Given the description of an element on the screen output the (x, y) to click on. 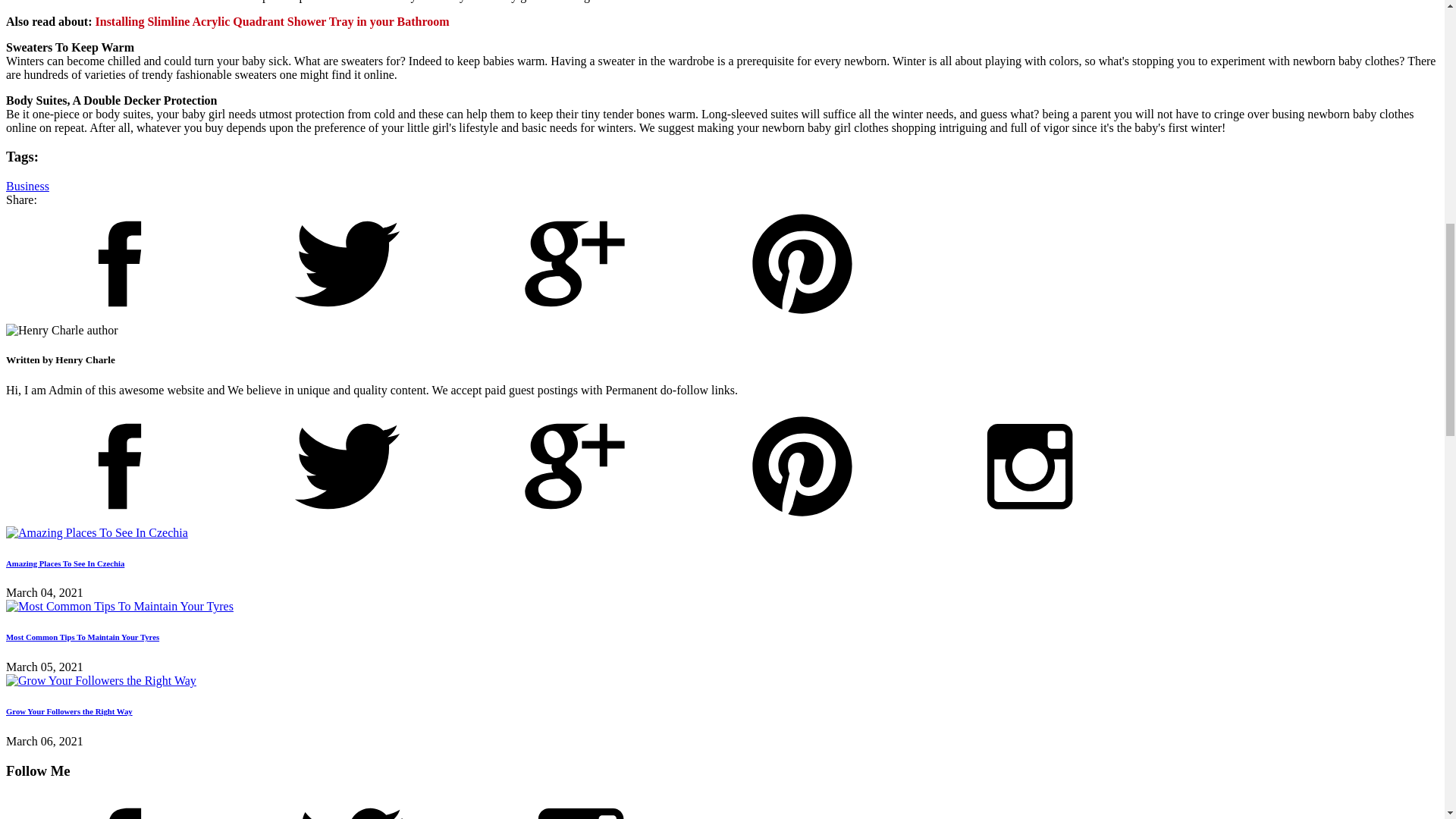
Grow Your Followers the Right Way (100, 680)
Most Common Tips To Maintain Your Tyres (118, 606)
Henry Charle author (61, 330)
Business (27, 185)
Amazing Places To See In Czechia (96, 532)
